Given the description of an element on the screen output the (x, y) to click on. 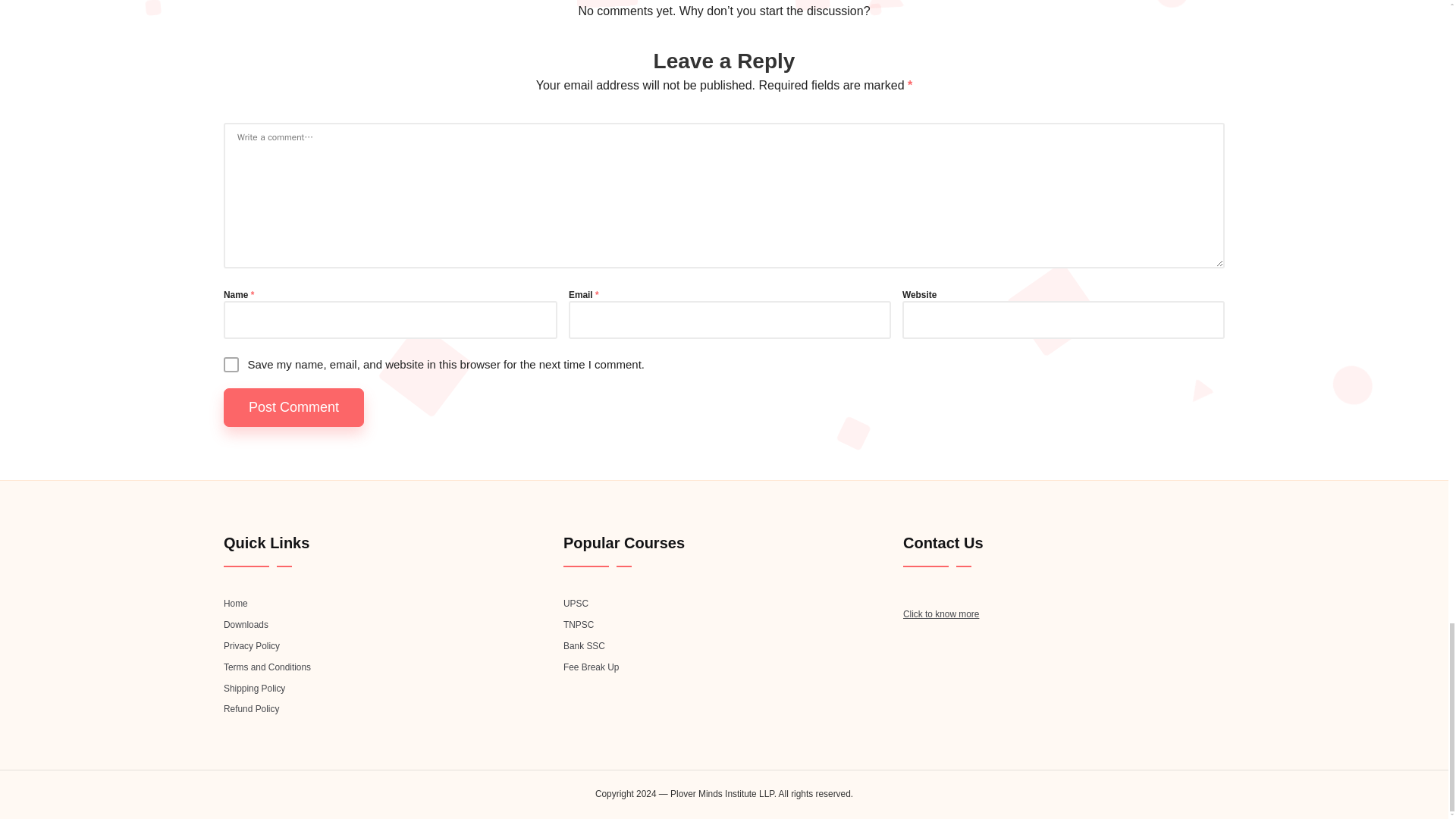
yes (231, 364)
Post Comment (294, 407)
Post Comment (294, 407)
